Given the description of an element on the screen output the (x, y) to click on. 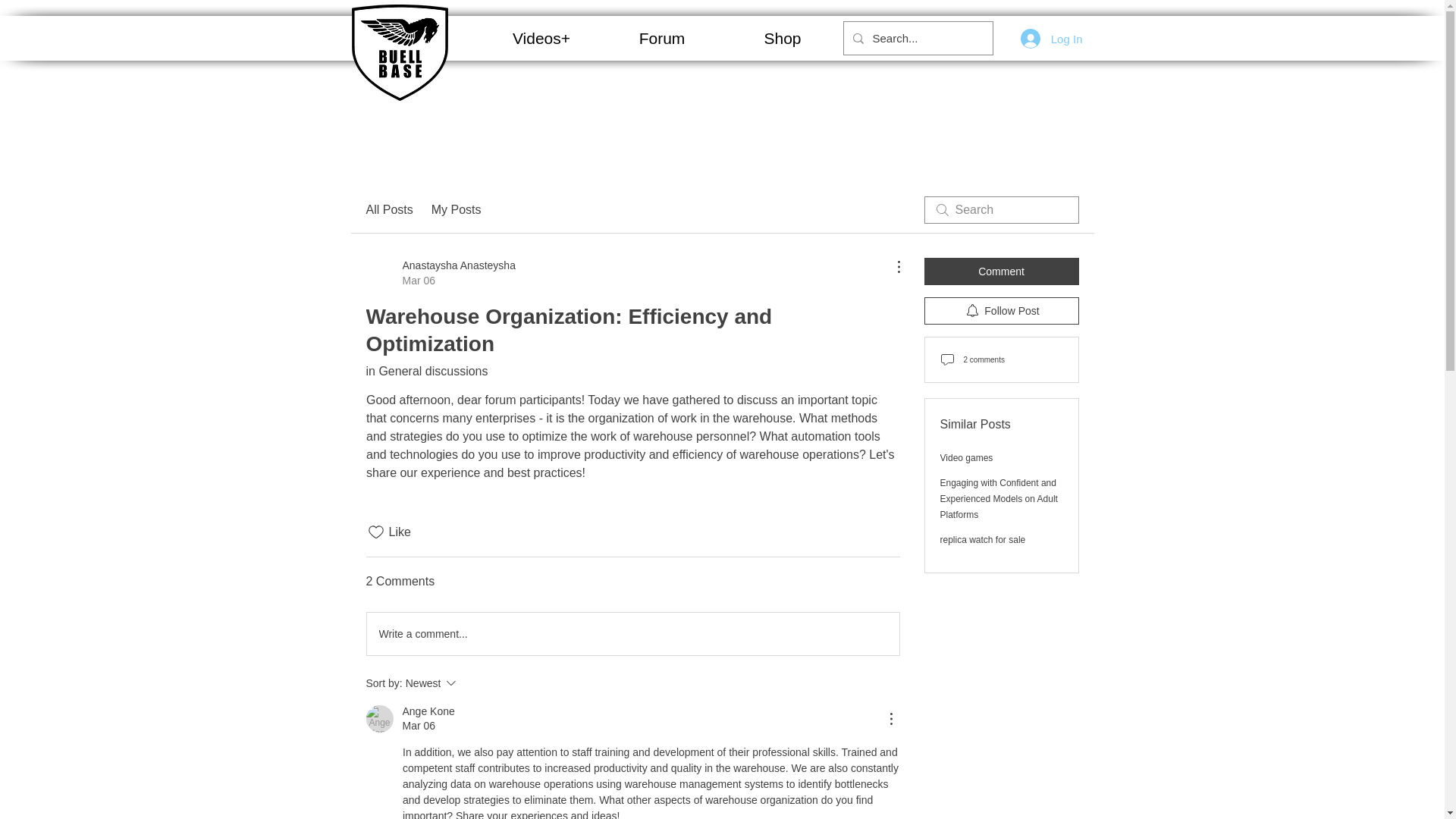
Follow Post (1000, 310)
Log In (471, 683)
Write a comment... (1051, 38)
Ange Kone (632, 633)
Comment (427, 711)
My Posts (1000, 271)
Ange Kone (455, 209)
in General discussions (379, 718)
Video games (426, 370)
Forum (966, 457)
replica watch for sale (662, 38)
All Posts (440, 272)
